Given the description of an element on the screen output the (x, y) to click on. 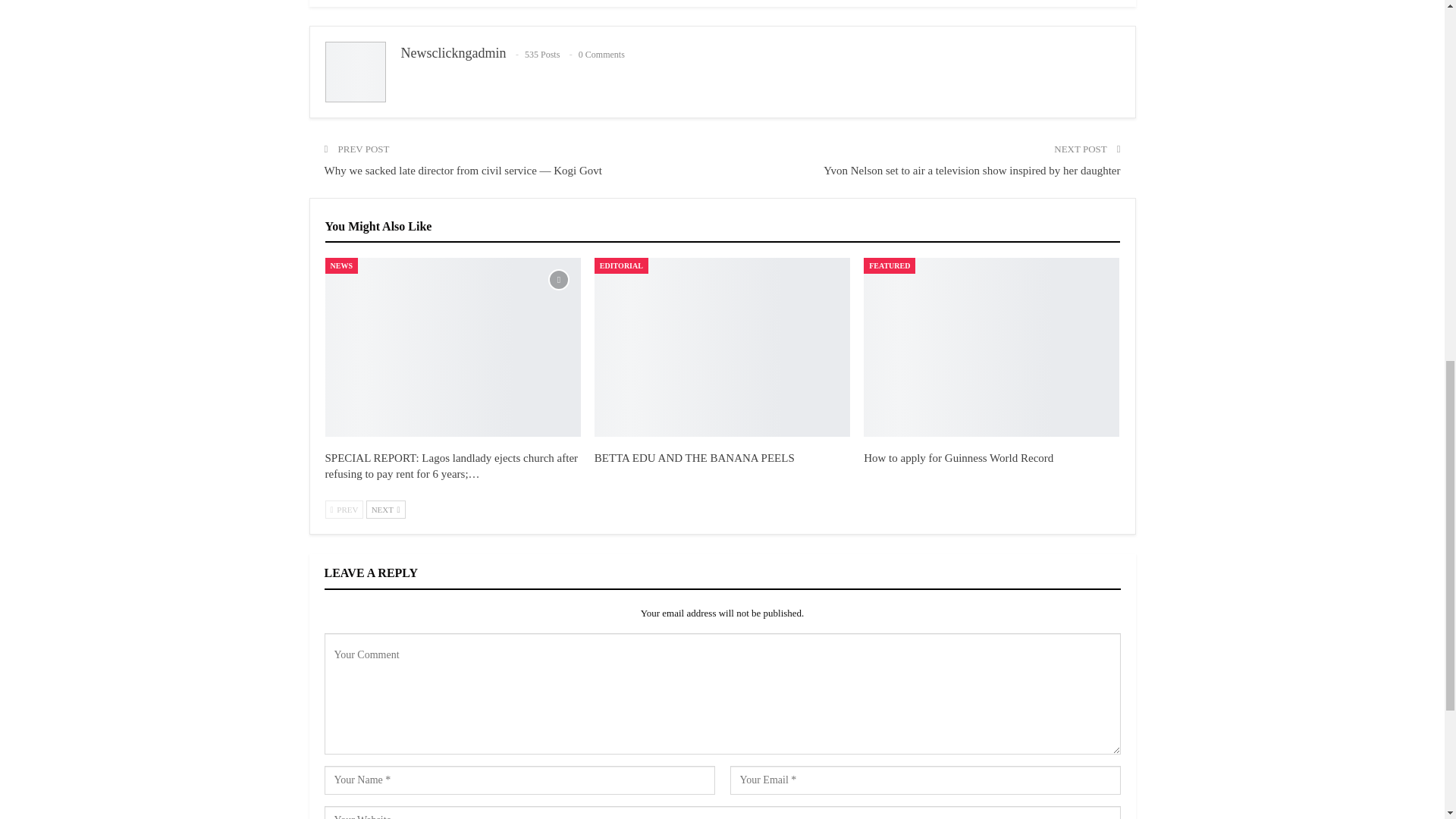
Next (386, 509)
How to apply for Guinness World Record (957, 458)
Newsclickngadmin (452, 52)
BETTA EDU AND THE BANANA PEELS (722, 346)
BETTA EDU AND THE BANANA PEELS (694, 458)
NEWS (340, 265)
You Might Also Like (377, 226)
How to apply for Guinness World Record (991, 346)
Previous (343, 509)
